Given the description of an element on the screen output the (x, y) to click on. 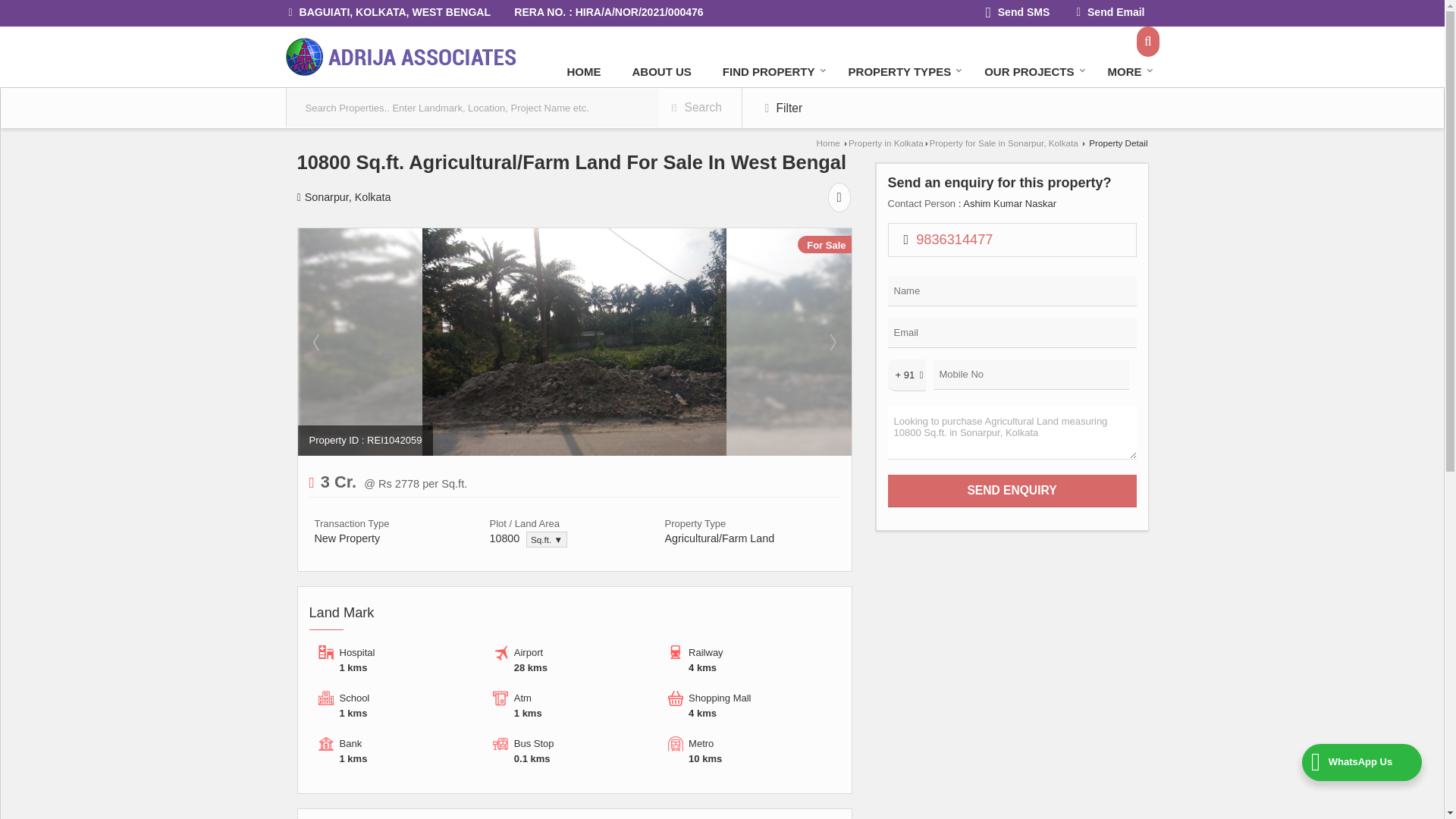
Send SMS (1017, 13)
FIND PROPERTY (769, 71)
Send Email (1110, 13)
ADRIJA ASSOCIATES (400, 56)
About Us (661, 71)
Find Property (769, 71)
Search (1147, 41)
HOME (583, 71)
Send Enquiry (1010, 490)
ABOUT US (661, 71)
Home (583, 71)
